Given the description of an element on the screen output the (x, y) to click on. 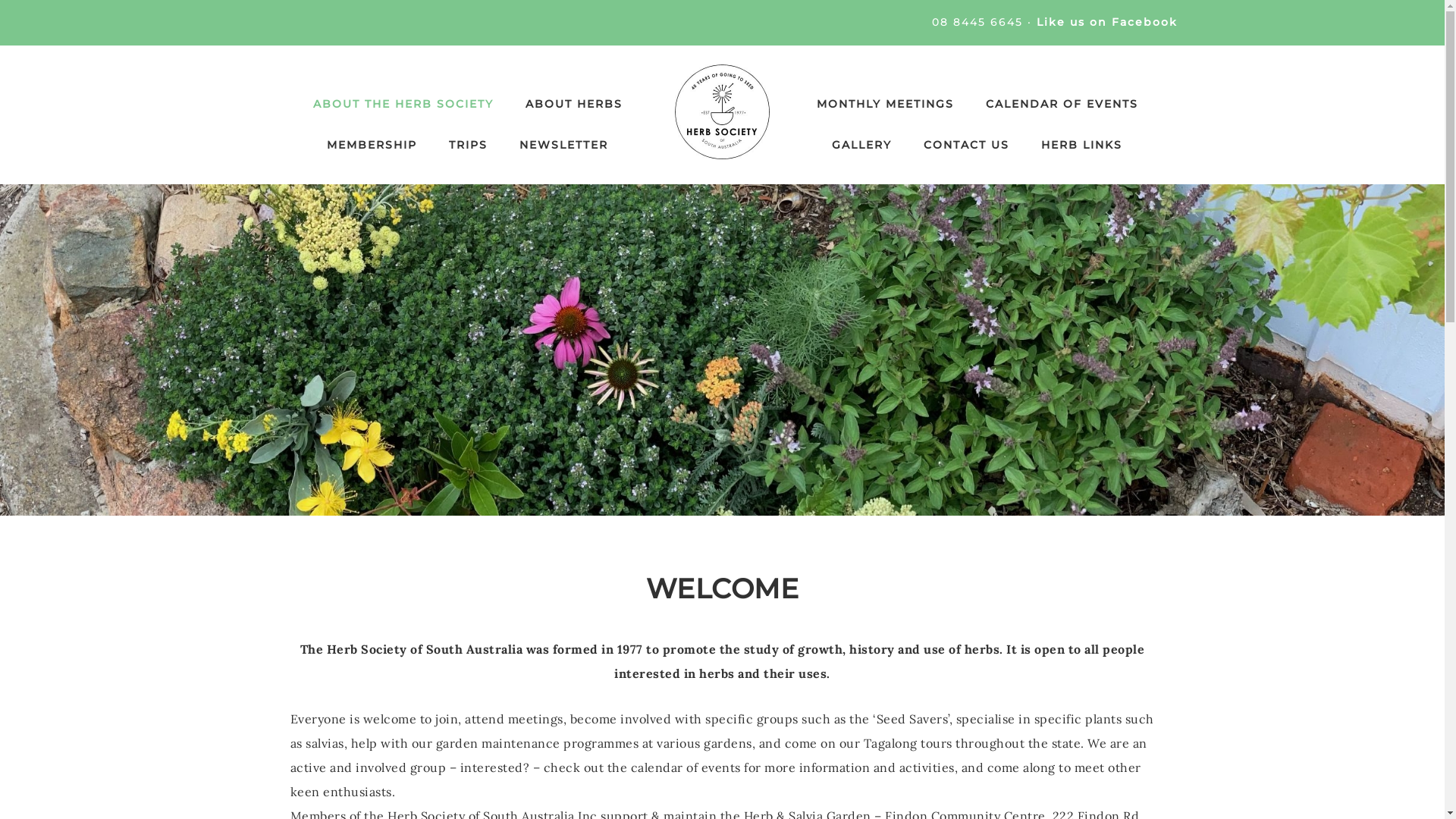
NEWSLETTER Element type: text (563, 144)
GALLERY Element type: text (861, 144)
Like us on Facebook Element type: text (1105, 21)
ABOUT THE HERB SOCIETY Element type: text (402, 103)
ABOUT HERBS Element type: text (573, 103)
MEMBERSHIP Element type: text (371, 144)
CALENDAR OF EVENTS Element type: text (1061, 103)
HERB SOCIETY OF SA Element type: text (721, 111)
CONTACT US Element type: text (966, 144)
HERB LINKS Element type: text (1081, 144)
TRIPS Element type: text (468, 144)
MONTHLY MEETINGS Element type: text (884, 103)
